Given the description of an element on the screen output the (x, y) to click on. 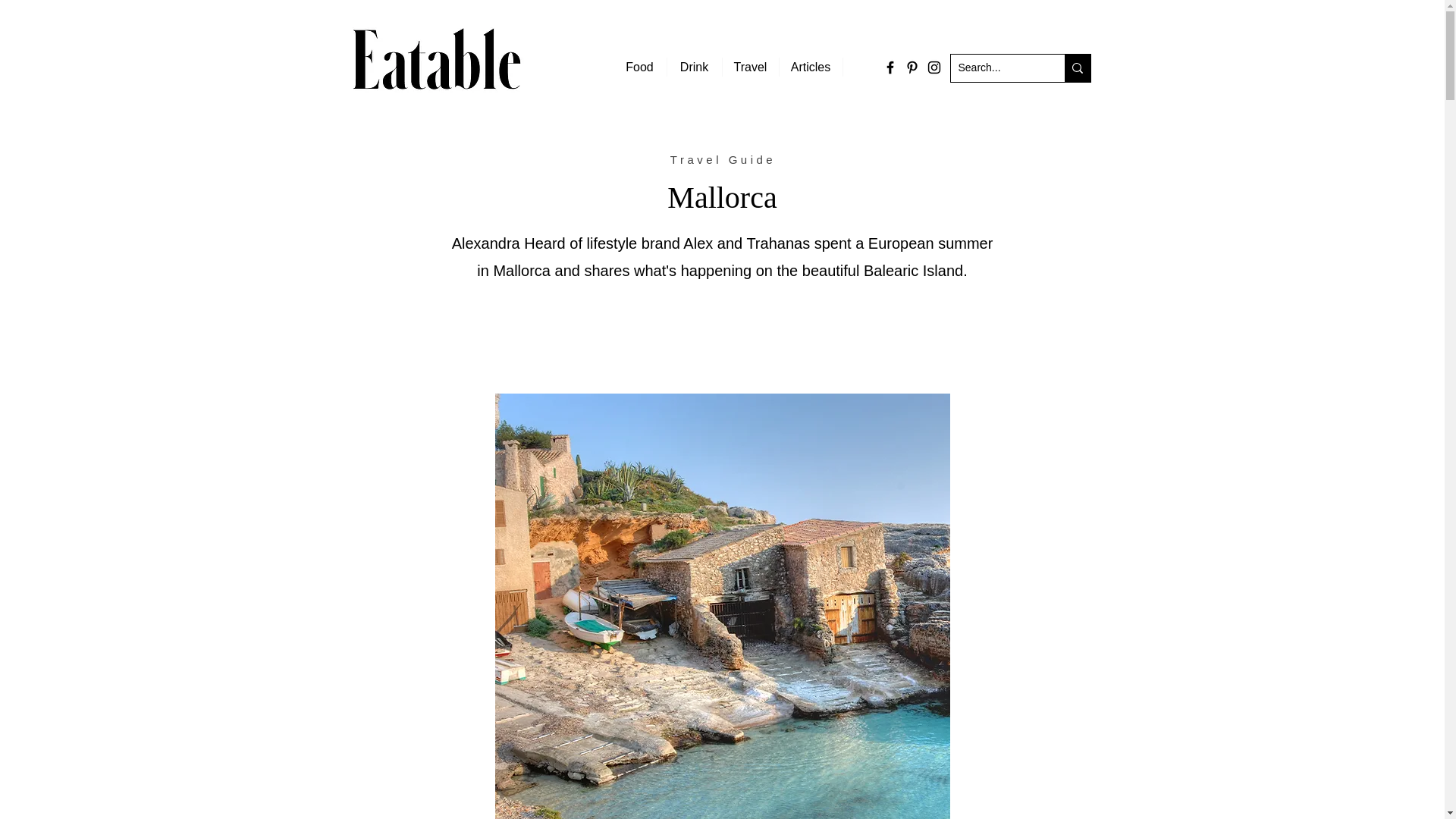
Articles (809, 66)
Food (638, 66)
Travel (750, 66)
Drink (692, 66)
